Given the description of an element on the screen output the (x, y) to click on. 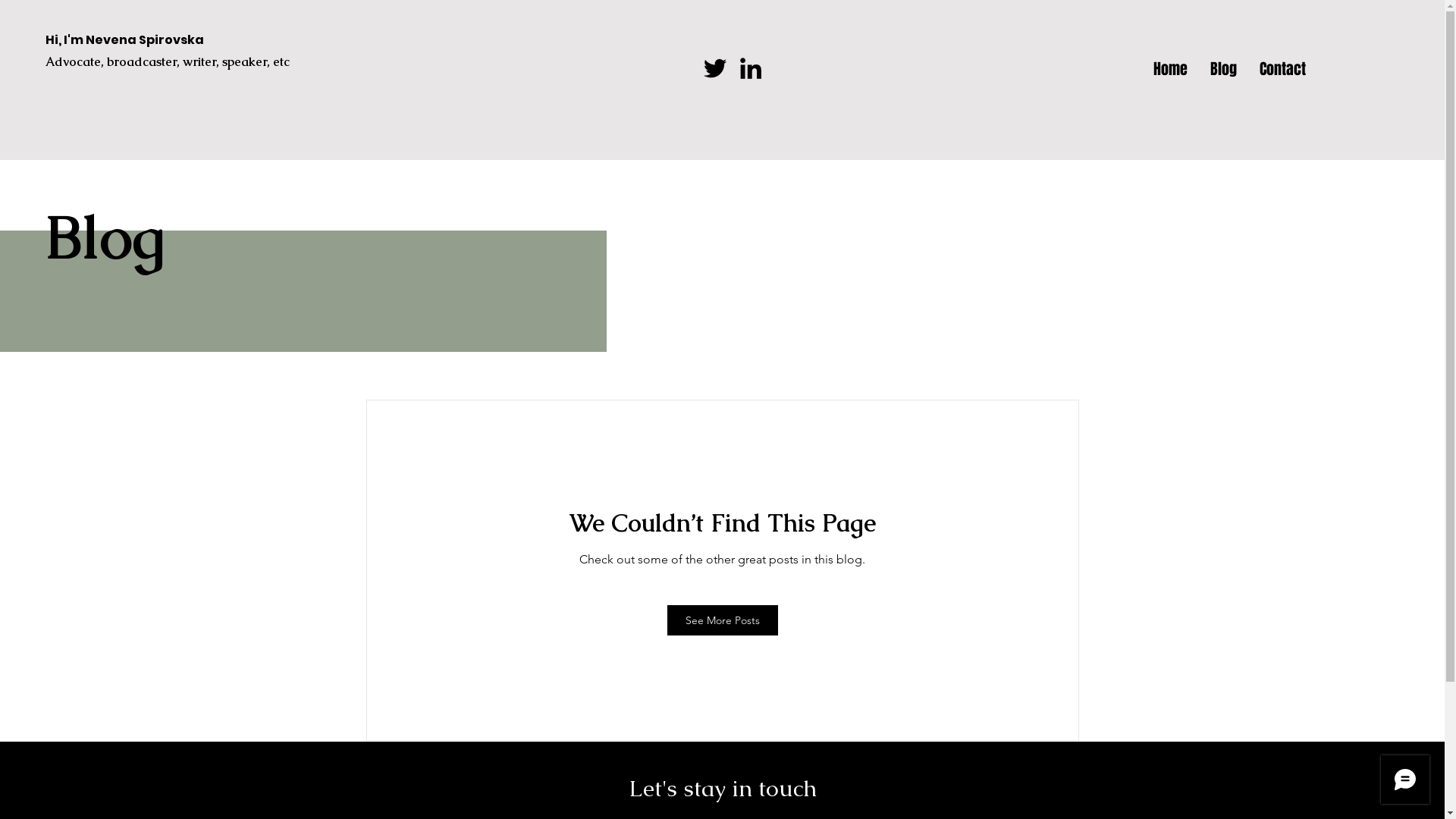
Hi, I'm Nevena Spirovska Element type: text (124, 39)
Contact Element type: text (1282, 66)
Blog Element type: text (1223, 66)
Home Element type: text (1170, 66)
See More Posts Element type: text (722, 620)
